Given the description of an element on the screen output the (x, y) to click on. 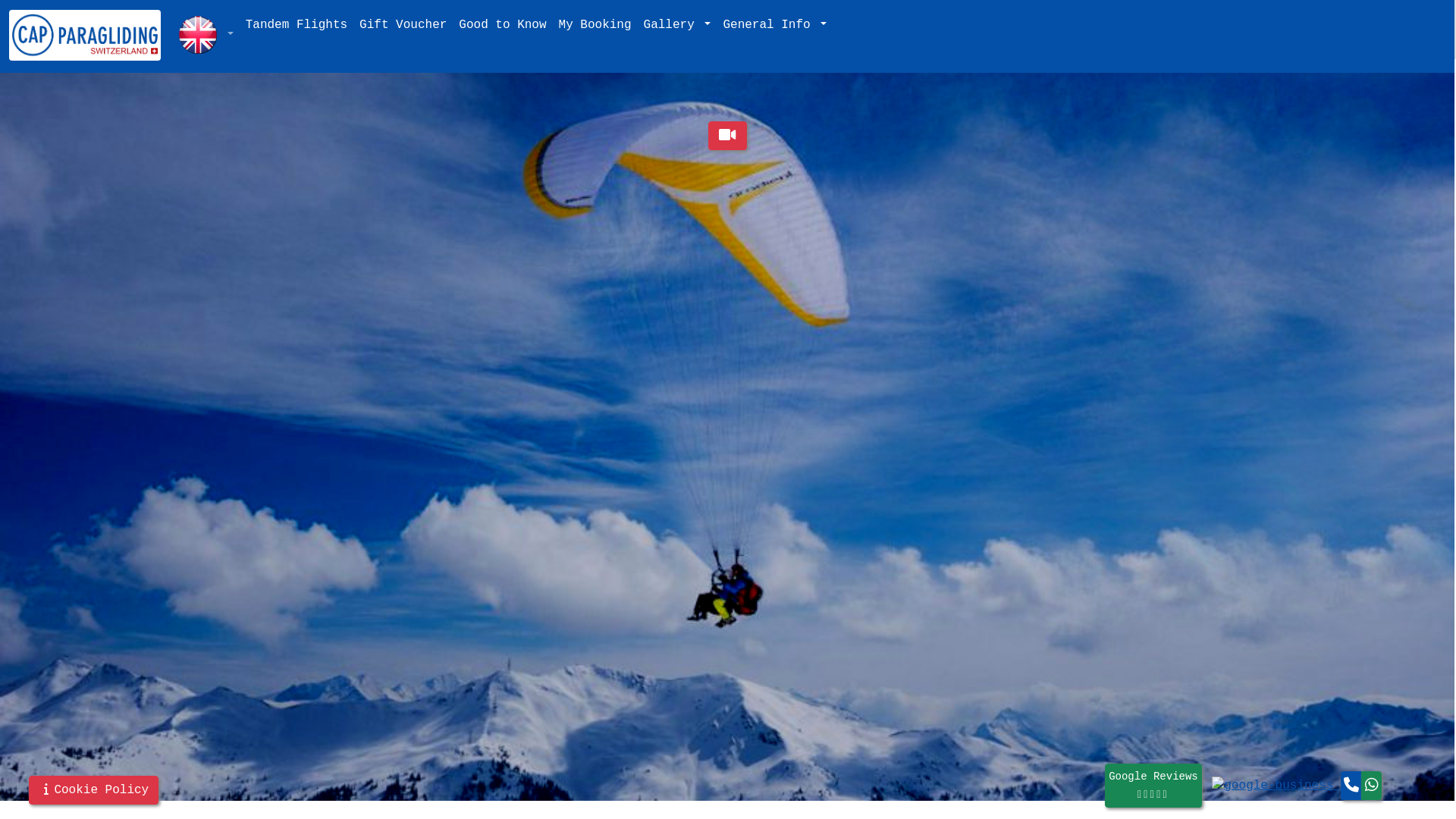
General Info Element type: text (774, 24)
My Booking Element type: text (594, 24)
Cookie Policy Element type: text (93, 789)
Tandem Flights Element type: text (296, 24)
Gift Voucher Element type: text (402, 24)
Good to Know Element type: text (502, 24)
Gallery Element type: text (677, 24)
